Given the description of an element on the screen output the (x, y) to click on. 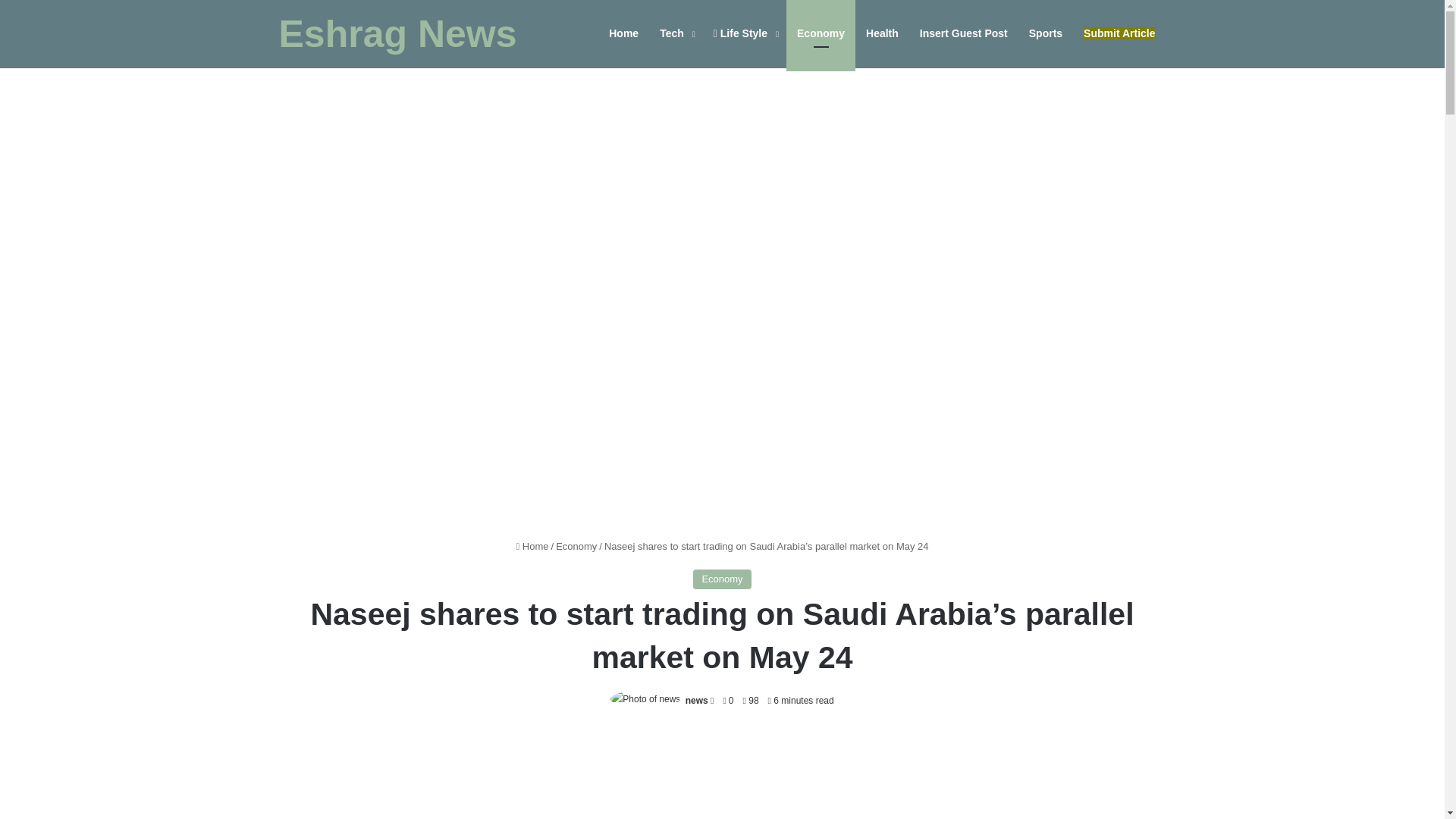
news (696, 700)
Economy (576, 546)
news (696, 700)
Eshrag News (397, 34)
Economy (722, 578)
Eshrag News (397, 34)
Advertisement (722, 775)
Insert Guest Post (962, 33)
Home (531, 546)
Life Style (744, 33)
Economy (821, 33)
Submit Article (1119, 33)
